Given the description of an element on the screen output the (x, y) to click on. 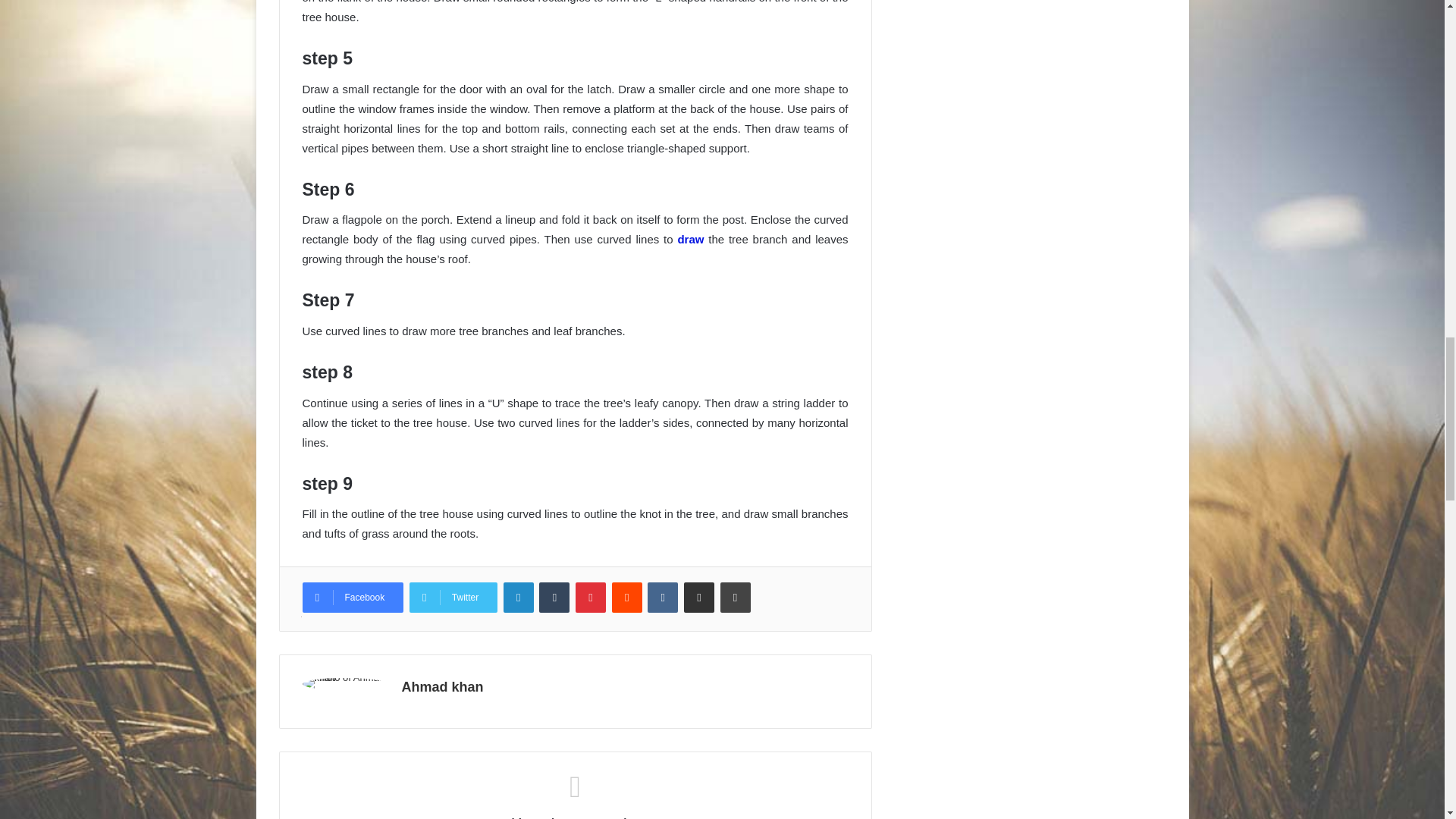
Facebook (352, 597)
Tumblr (553, 597)
Facebook (352, 597)
draw (690, 238)
Tumblr (553, 597)
Twitter (453, 597)
Twitter (453, 597)
LinkedIn (518, 597)
LinkedIn (518, 597)
Pinterest (590, 597)
